Given the description of an element on the screen output the (x, y) to click on. 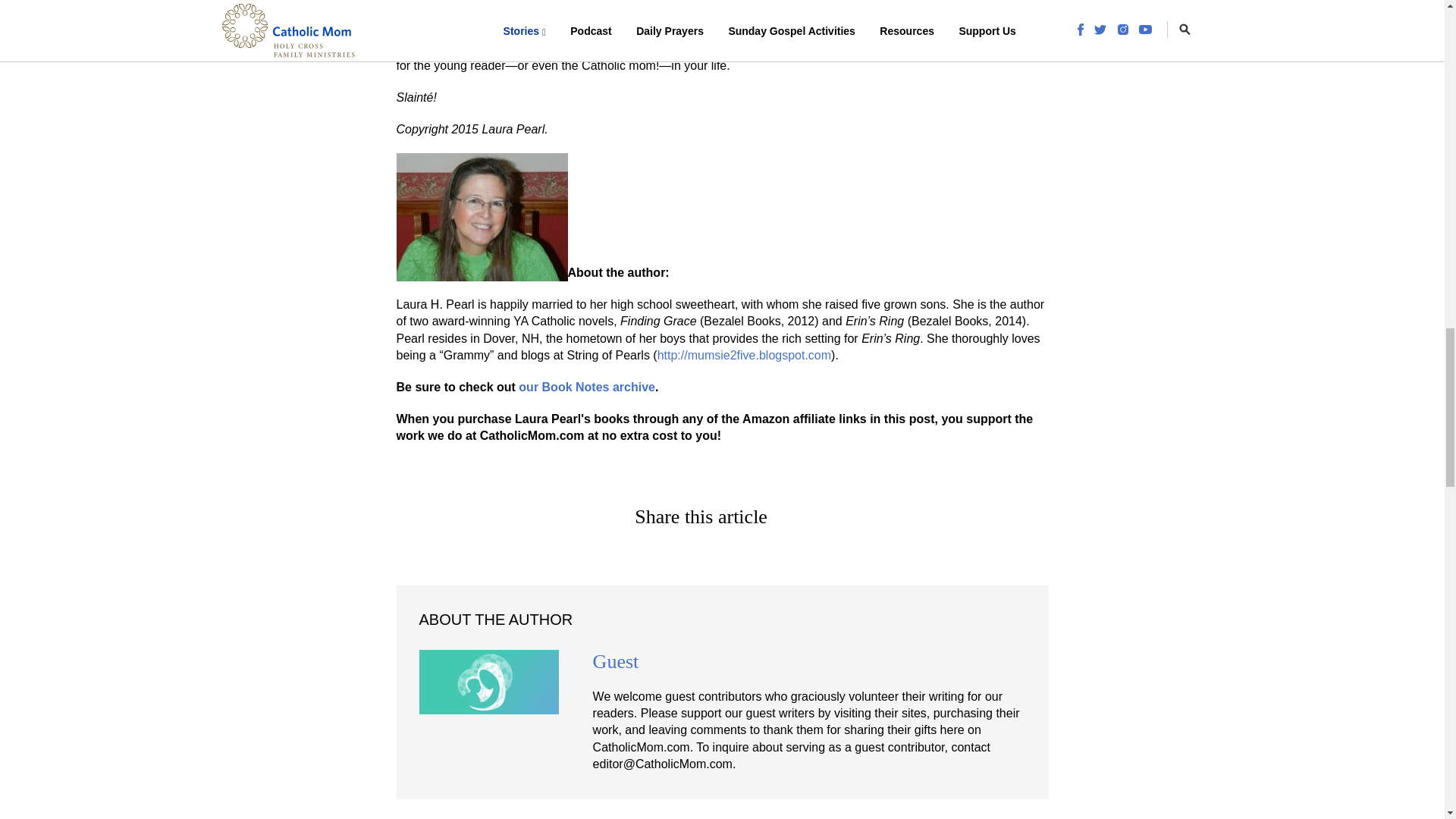
our Book Notes archive (586, 386)
